Given the description of an element on the screen output the (x, y) to click on. 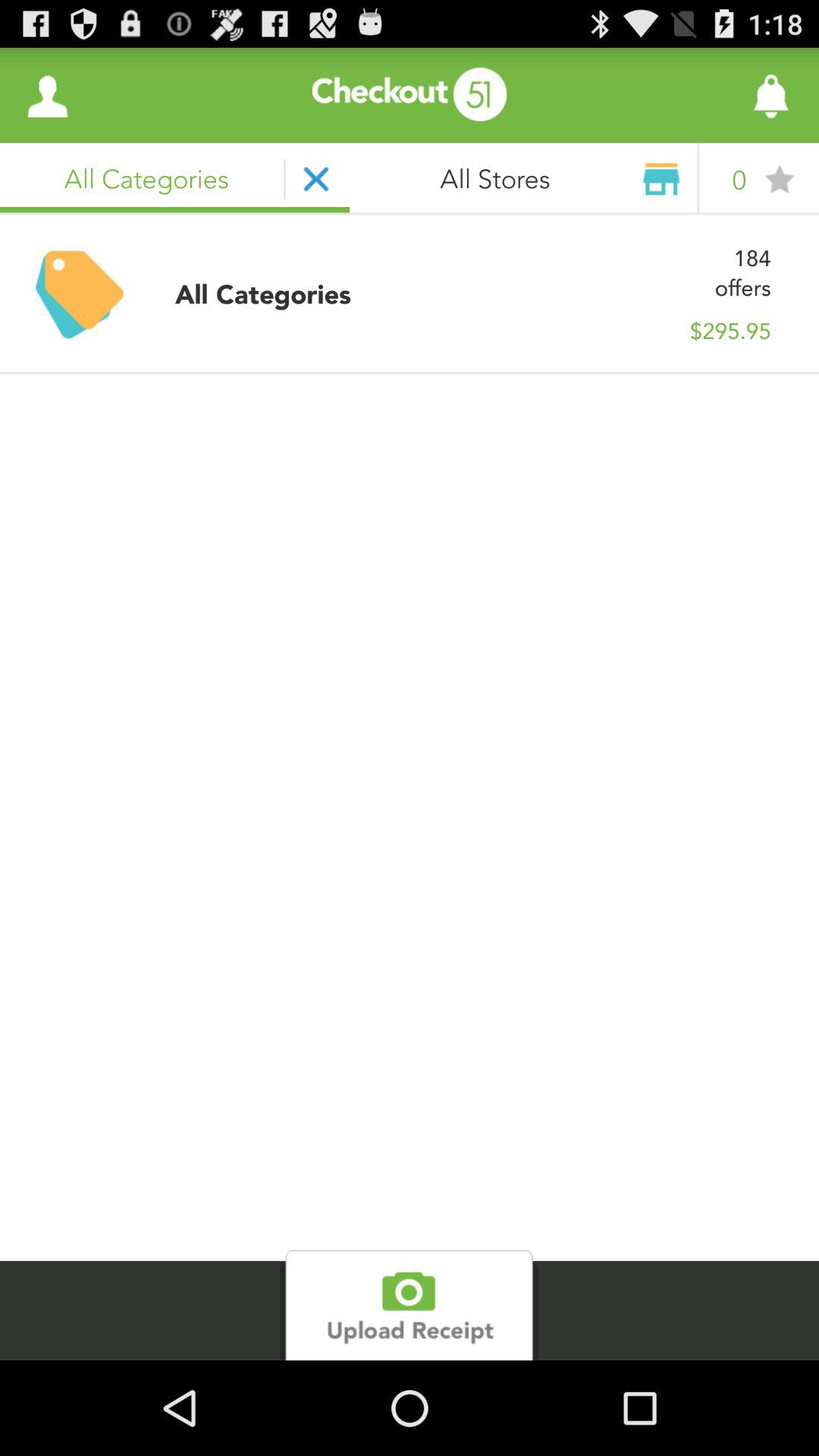
profile (47, 95)
